Given the description of an element on the screen output the (x, y) to click on. 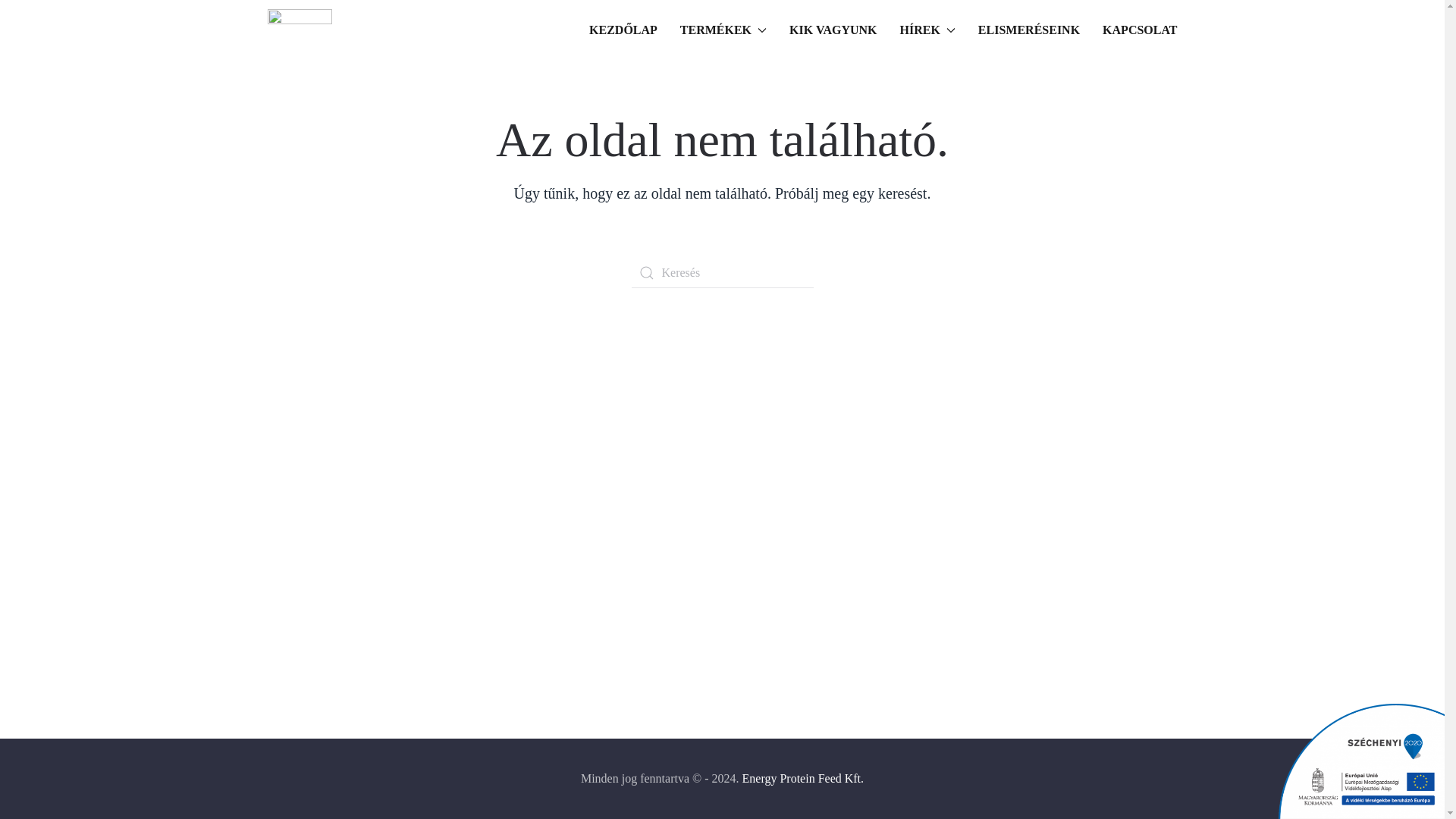
Energy Protein Feed Kft. (802, 778)
KIK VAGYUNK (832, 30)
KAPCSOLAT (1139, 30)
